Given the description of an element on the screen output the (x, y) to click on. 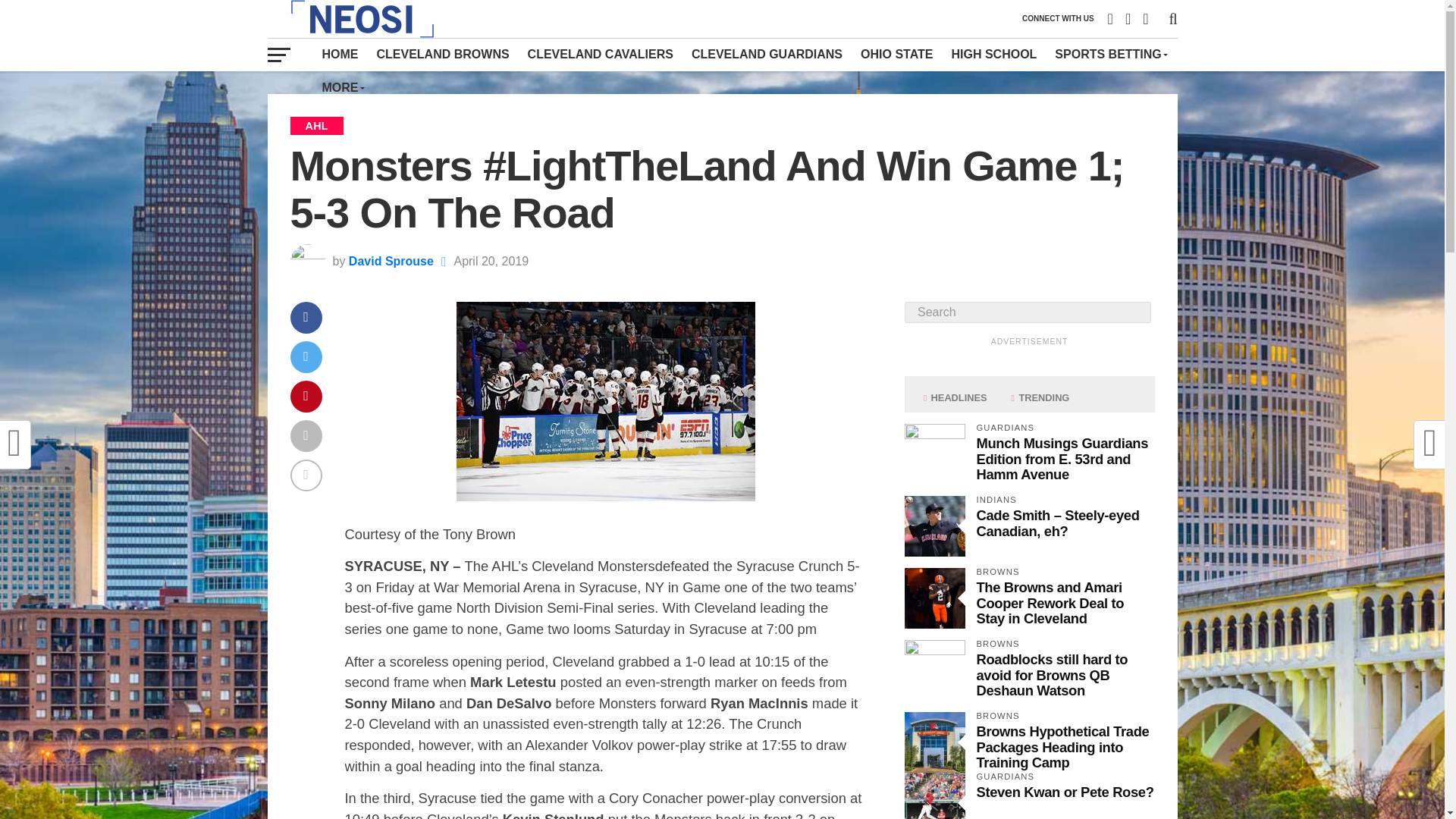
CLEVELAND GUARDIANS (766, 54)
CLEVELAND CAVALIERS (600, 54)
Posts by David Sprouse (391, 260)
Search (1027, 312)
HOME (339, 54)
CLEVELAND BROWNS (442, 54)
